Given the description of an element on the screen output the (x, y) to click on. 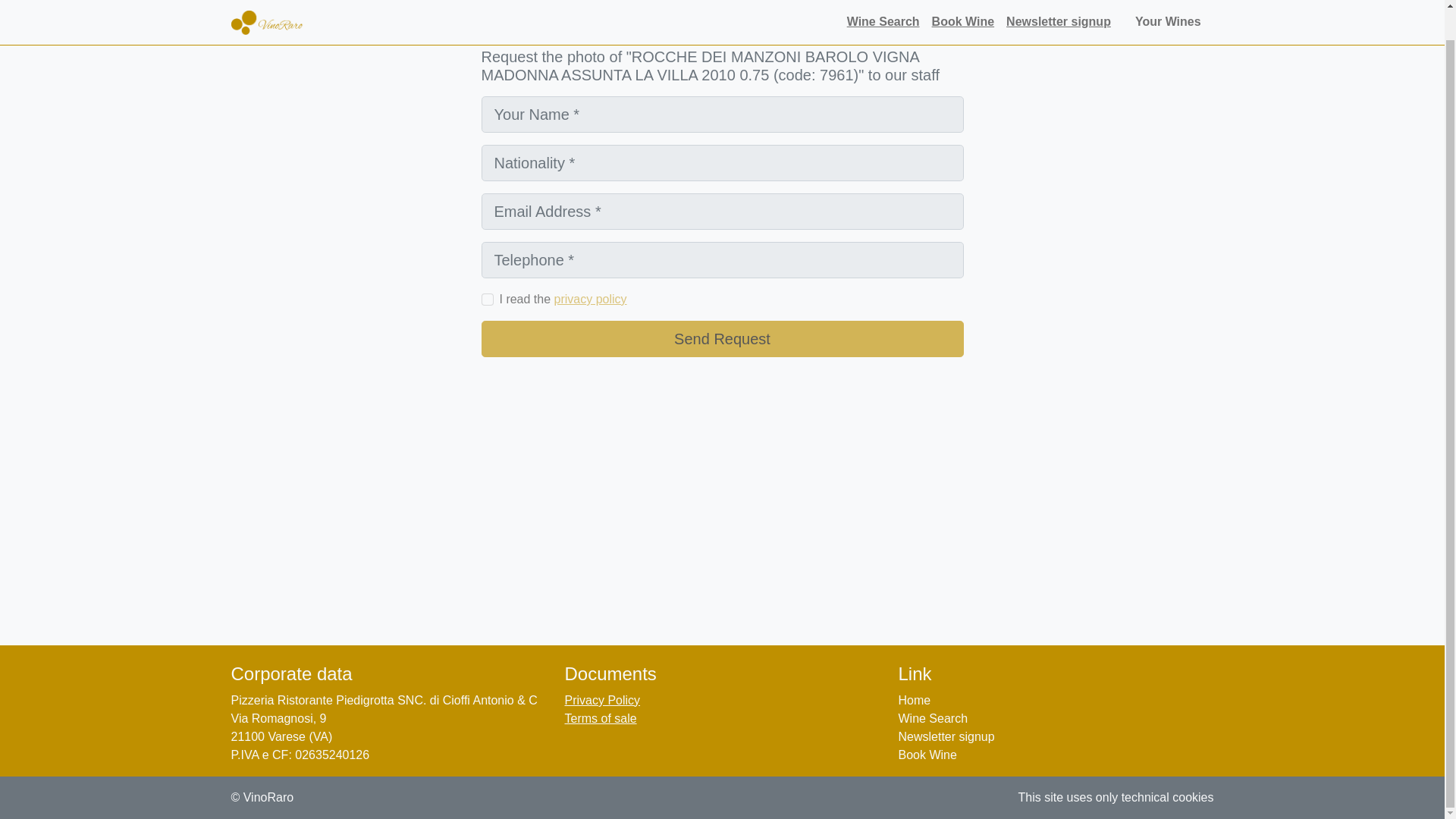
Privacy Policy (602, 699)
Wine Search (933, 717)
privacy policy (590, 298)
Terms of sale (600, 717)
Newsletter signup (1058, 2)
Newsletter signup (946, 736)
Send Request (721, 339)
Book Wine (927, 754)
Your Wines   (1171, 2)
Book Wine (963, 2)
Home (914, 699)
Wine Search (883, 2)
on (486, 299)
